Given the description of an element on the screen output the (x, y) to click on. 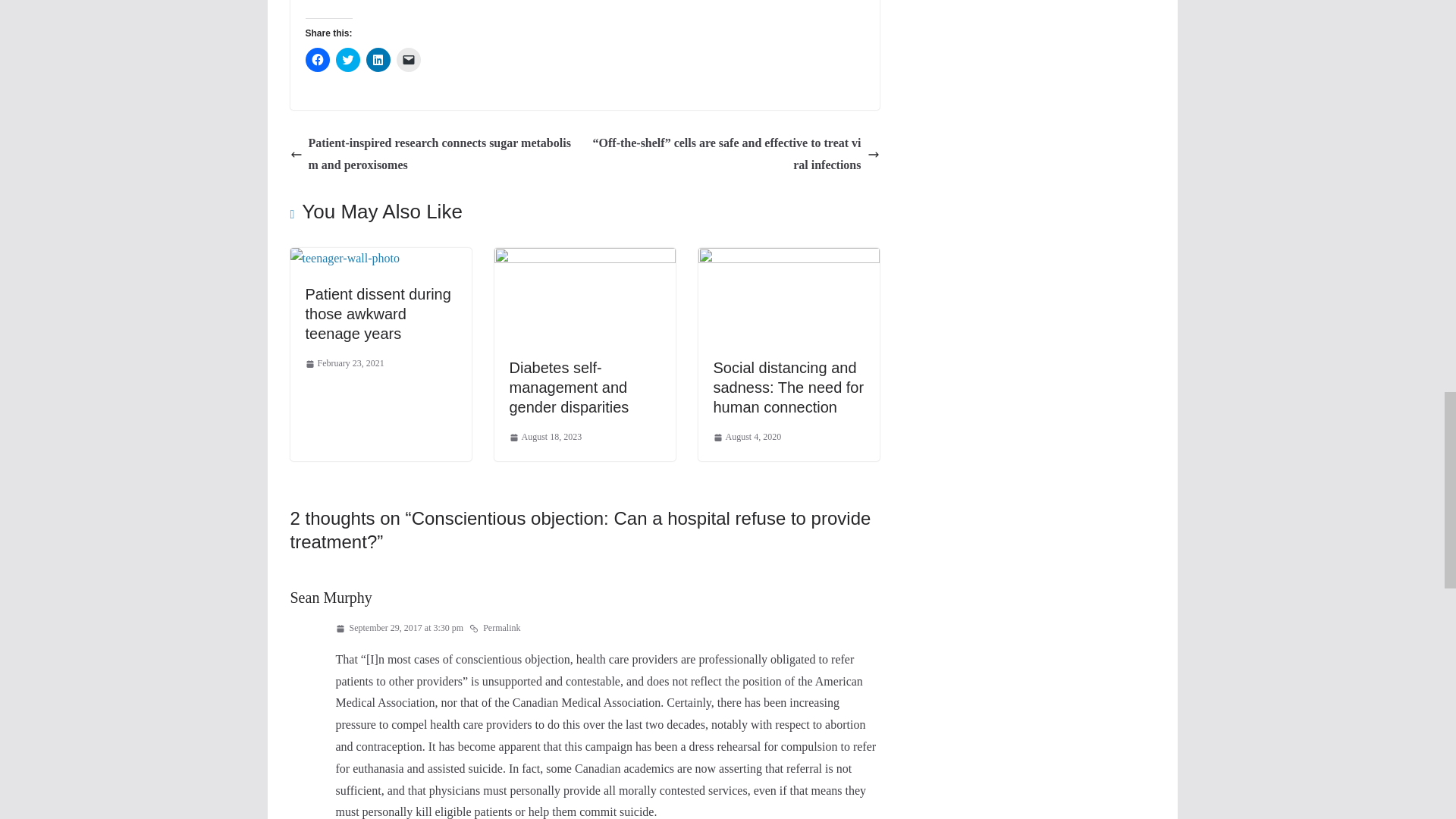
Click to share on LinkedIn (377, 59)
Patient dissent during those awkward teenage years (343, 257)
Click to share on Facebook (316, 59)
Click to email a link to a friend (408, 59)
Click to share on Twitter (346, 59)
Patient dissent during those awkward teenage years (376, 313)
10:12 am (344, 363)
